Given the description of an element on the screen output the (x, y) to click on. 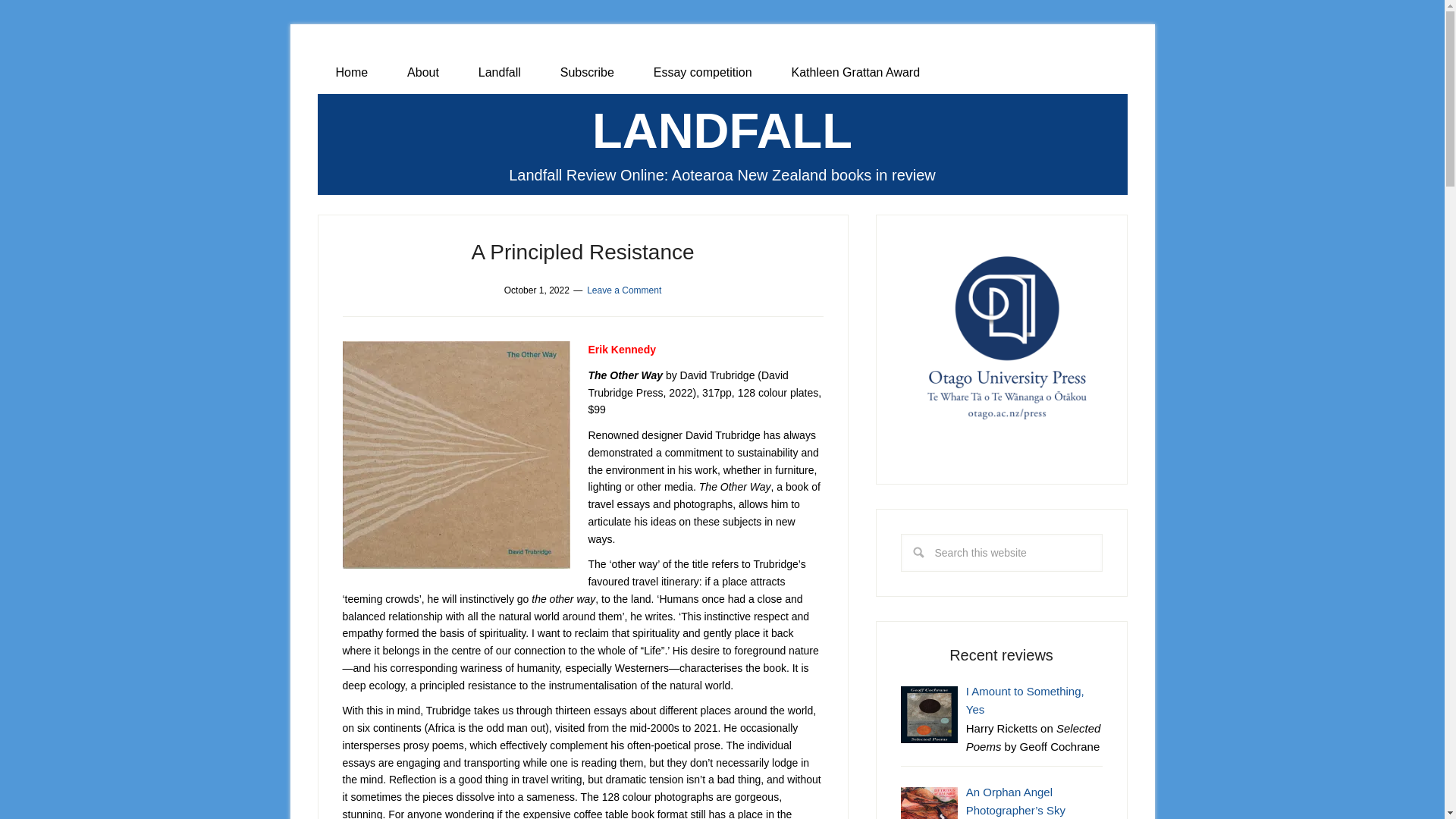
About (422, 72)
Essay competition (702, 72)
Landfall (499, 72)
Home (351, 72)
Leave a Comment (623, 290)
Kathleen Grattan Award (856, 72)
Otago University Press (1001, 340)
I Amount to Something, Yes (1025, 699)
